Given the description of an element on the screen output the (x, y) to click on. 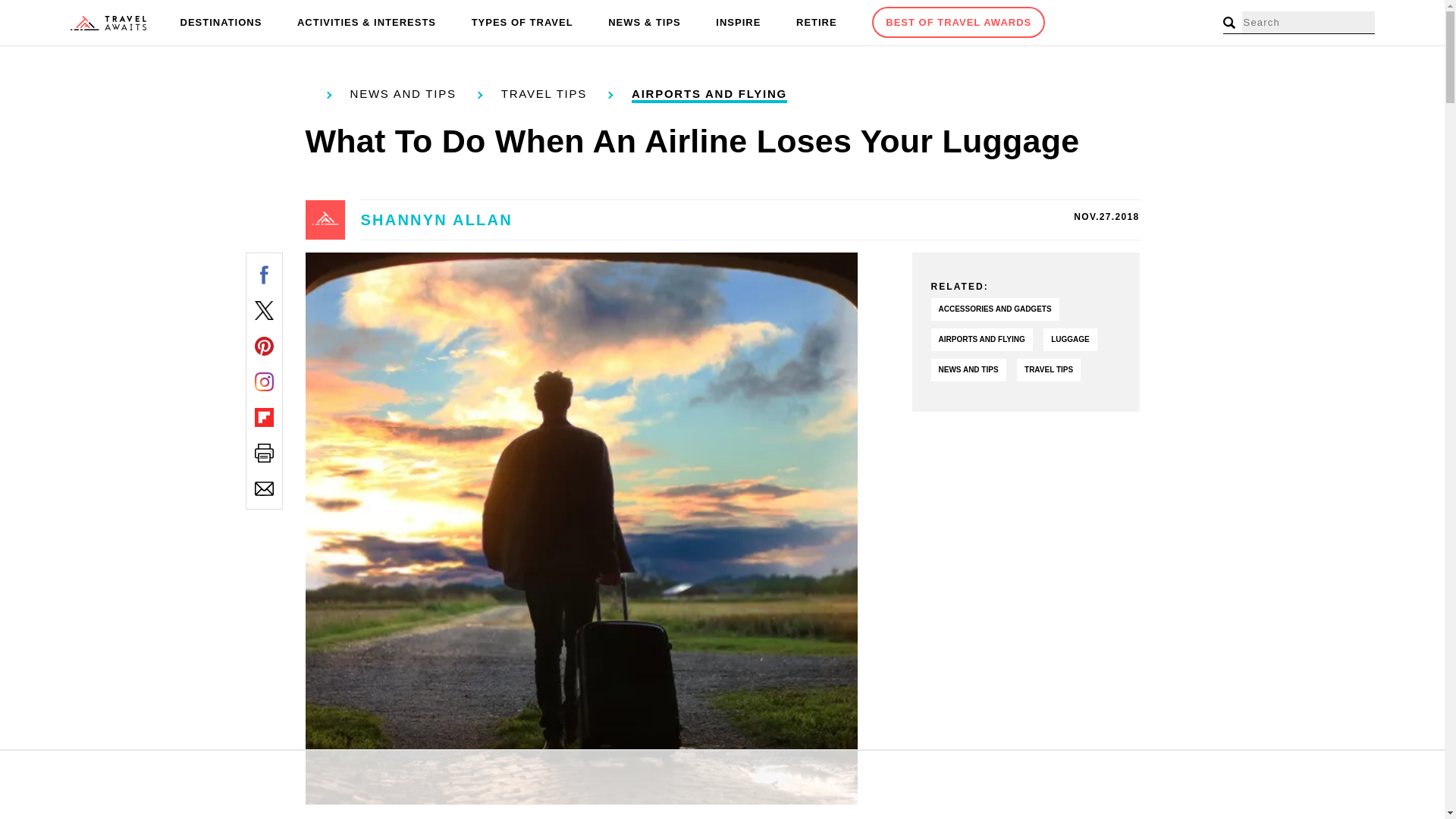
DESTINATIONS (221, 22)
Facebook (263, 274)
Print (263, 452)
TYPES OF TRAVEL (522, 22)
Twitter (263, 310)
Email (263, 488)
Instagram (263, 381)
TravelAwaits (107, 22)
Flipboard (263, 416)
